Given the description of an element on the screen output the (x, y) to click on. 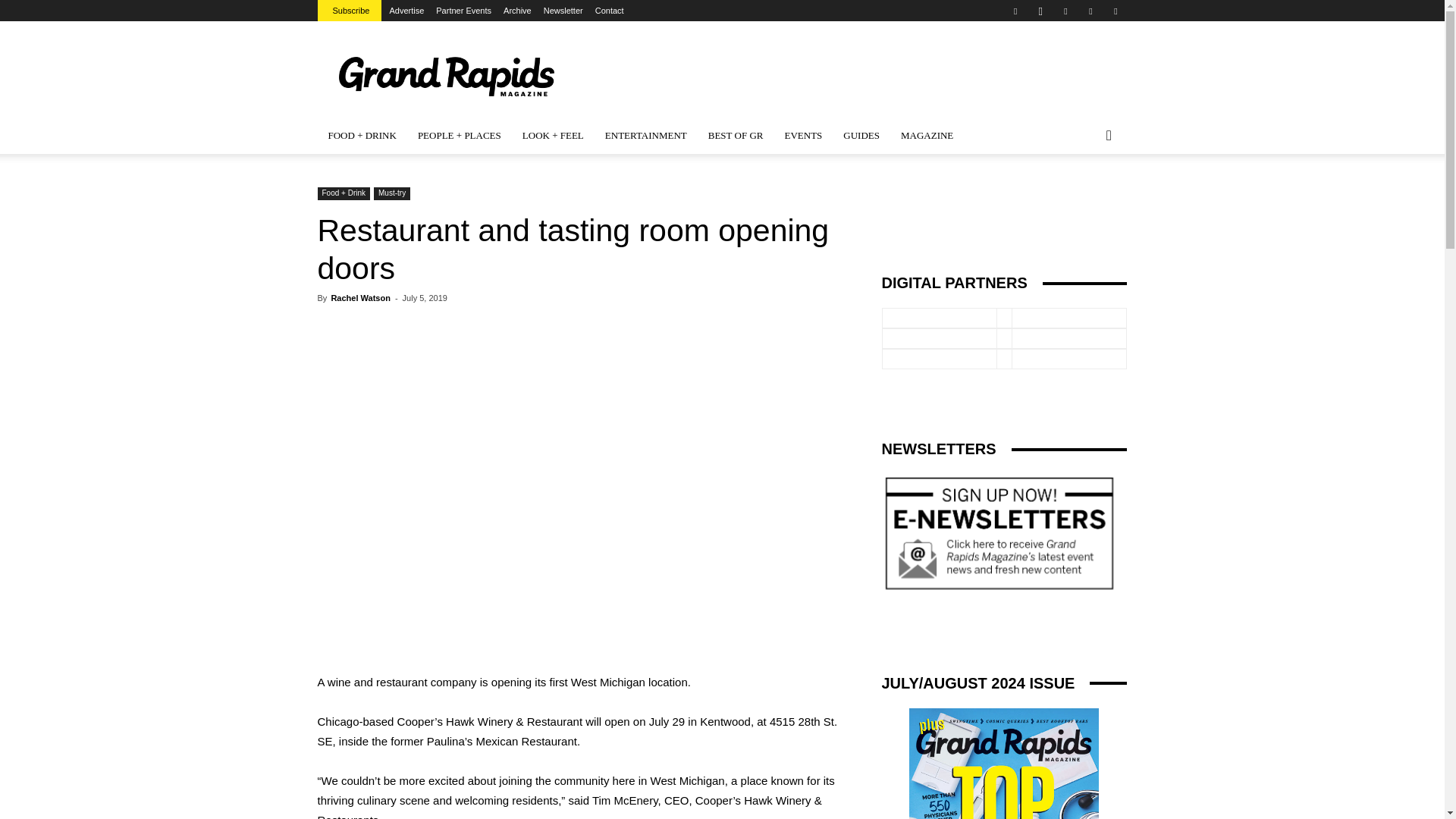
Posts by Rachel Watson (360, 297)
Instagram (1040, 10)
Pinterest (1065, 10)
Twitter (1090, 10)
Youtube (1114, 10)
Facebook (1015, 10)
